Given the description of an element on the screen output the (x, y) to click on. 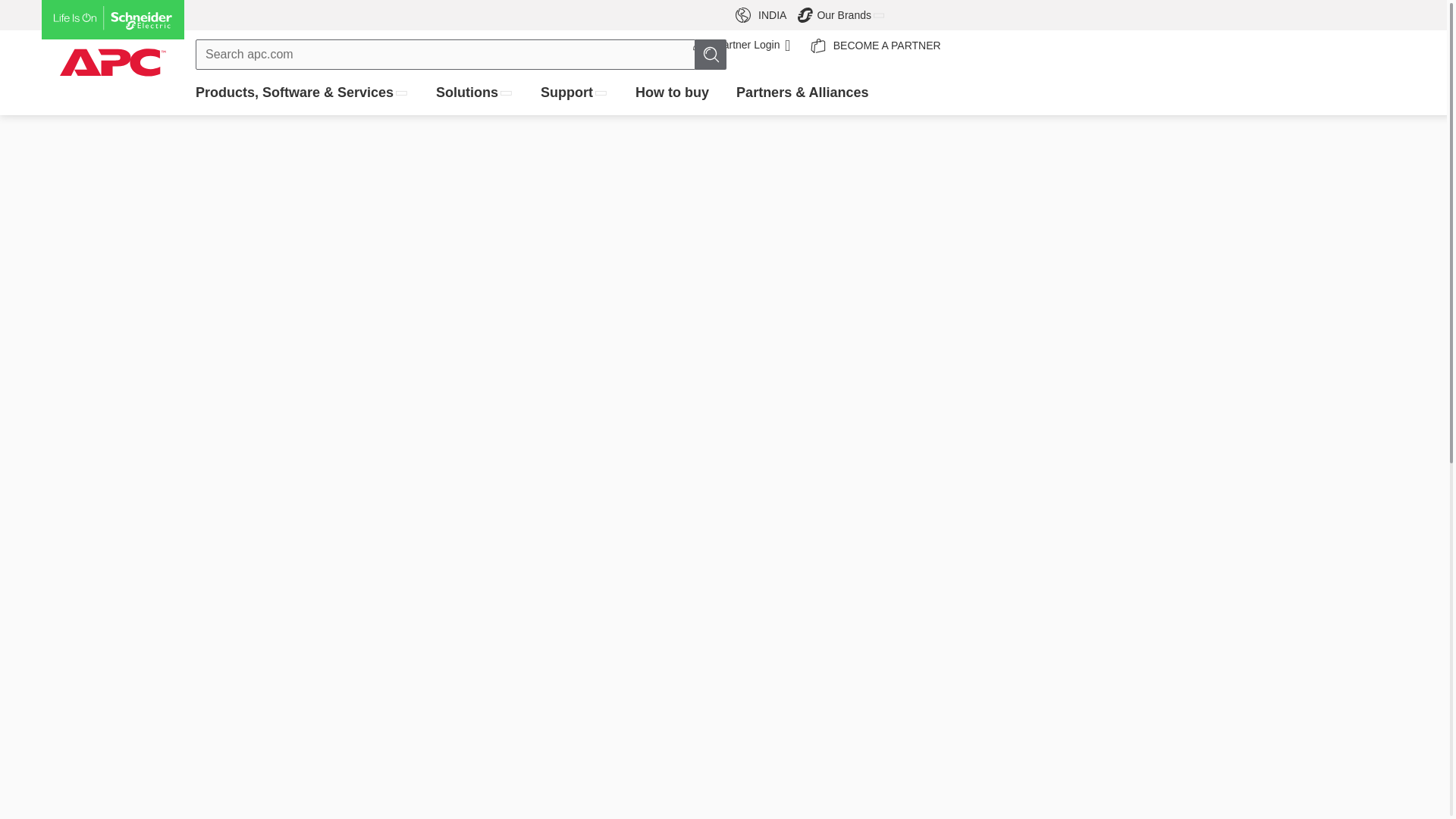
INDIA (764, 15)
Search (743, 45)
How to buy (871, 45)
Skip To Main Content (710, 54)
Support (671, 92)
SE logo LIO white header (5, 2)
Solutions (574, 92)
APC logo (113, 19)
Reset (474, 92)
Our Brands (113, 51)
